Given the description of an element on the screen output the (x, y) to click on. 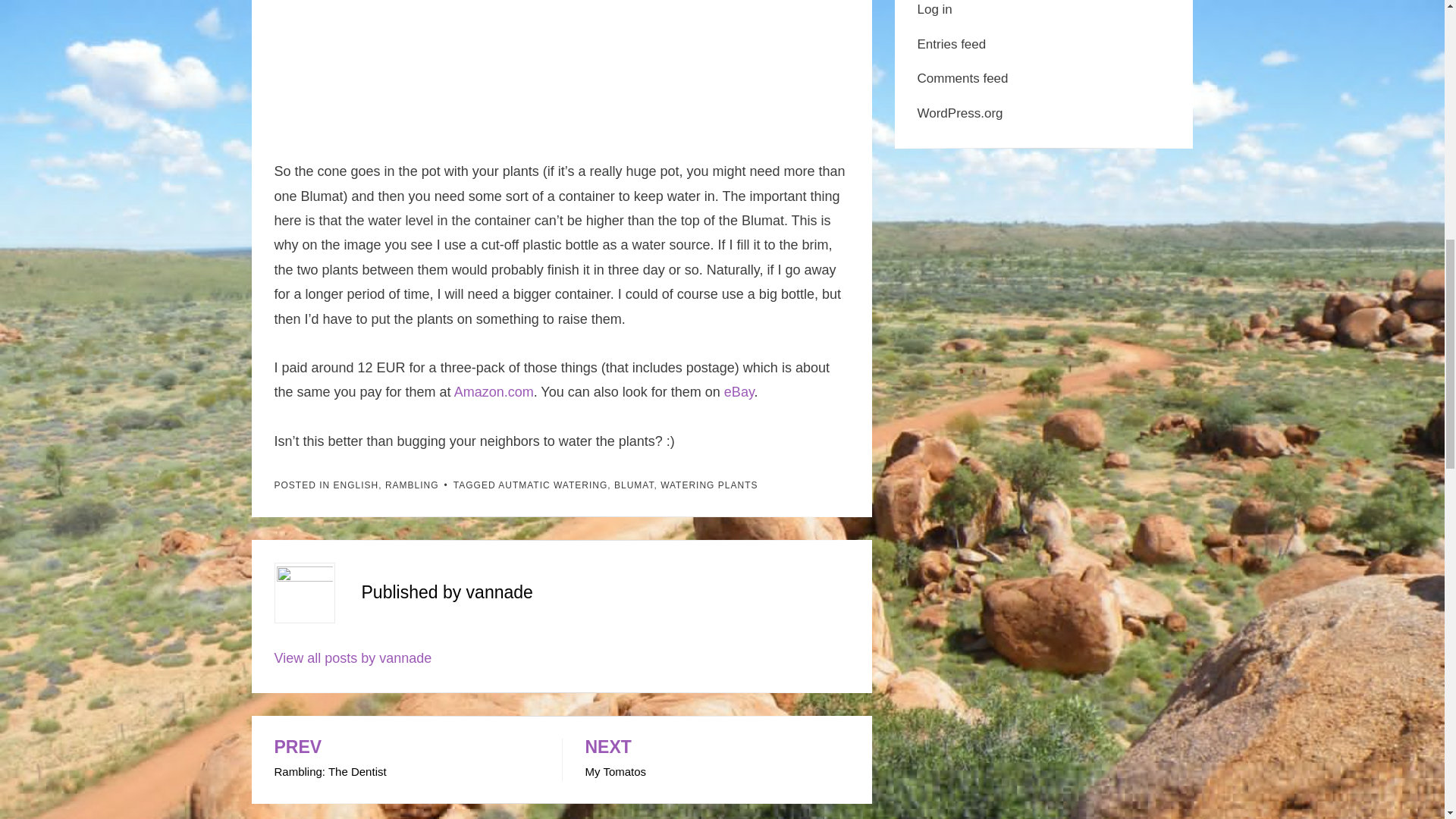
RAMBLING (412, 484)
WATERING PLANTS (709, 484)
ENGLISH (355, 484)
View all posts by vannade (353, 657)
Blumat (561, 67)
AUTMATIC WATERING (552, 484)
Amazon.com (494, 391)
eBay (738, 391)
BLUMAT (633, 484)
